Given the description of an element on the screen output the (x, y) to click on. 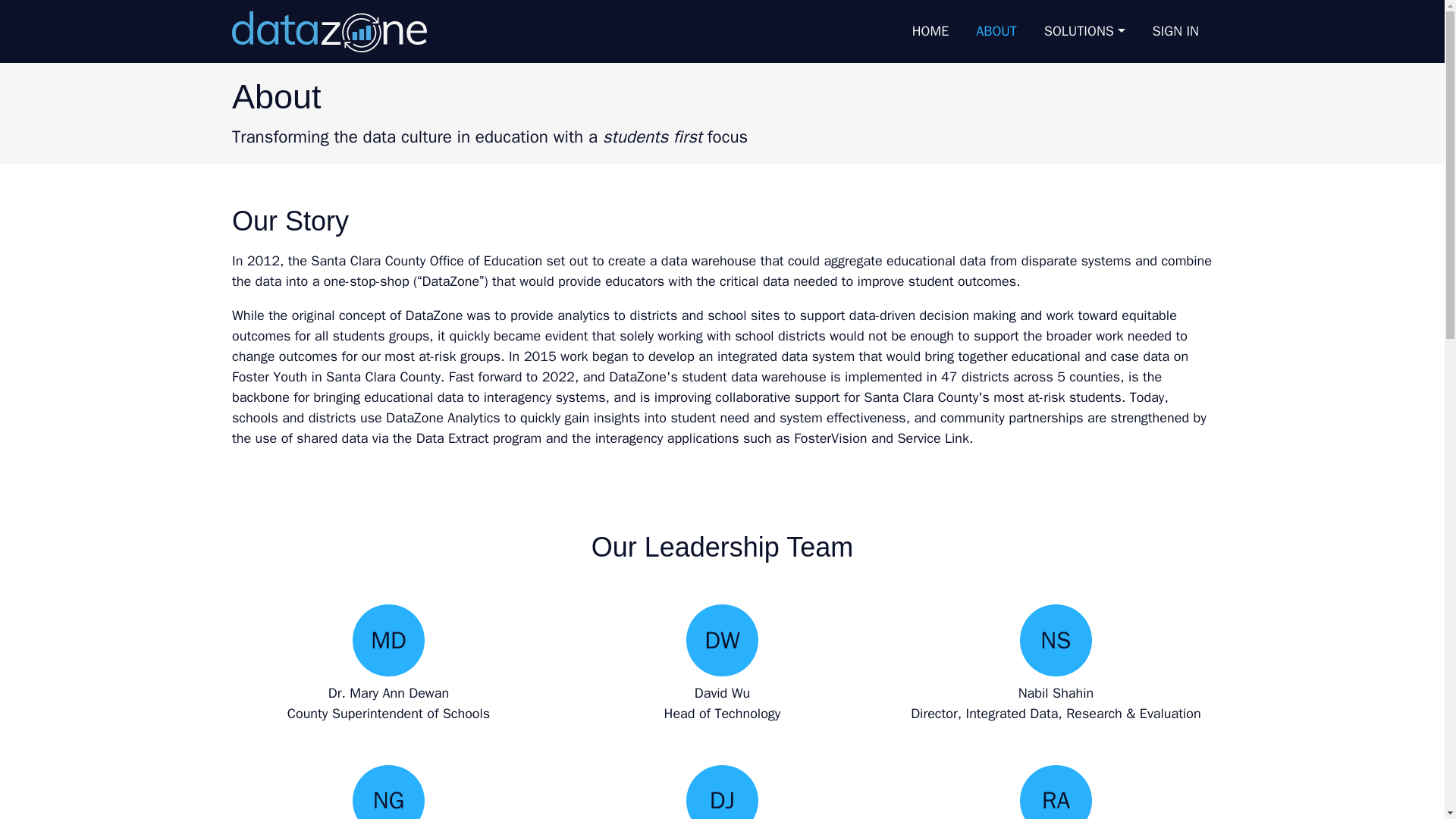
SOLUTIONS (1084, 31)
ABOUT (996, 31)
DataZone (328, 31)
SIGN IN (1175, 31)
HOME (930, 31)
